Given the description of an element on the screen output the (x, y) to click on. 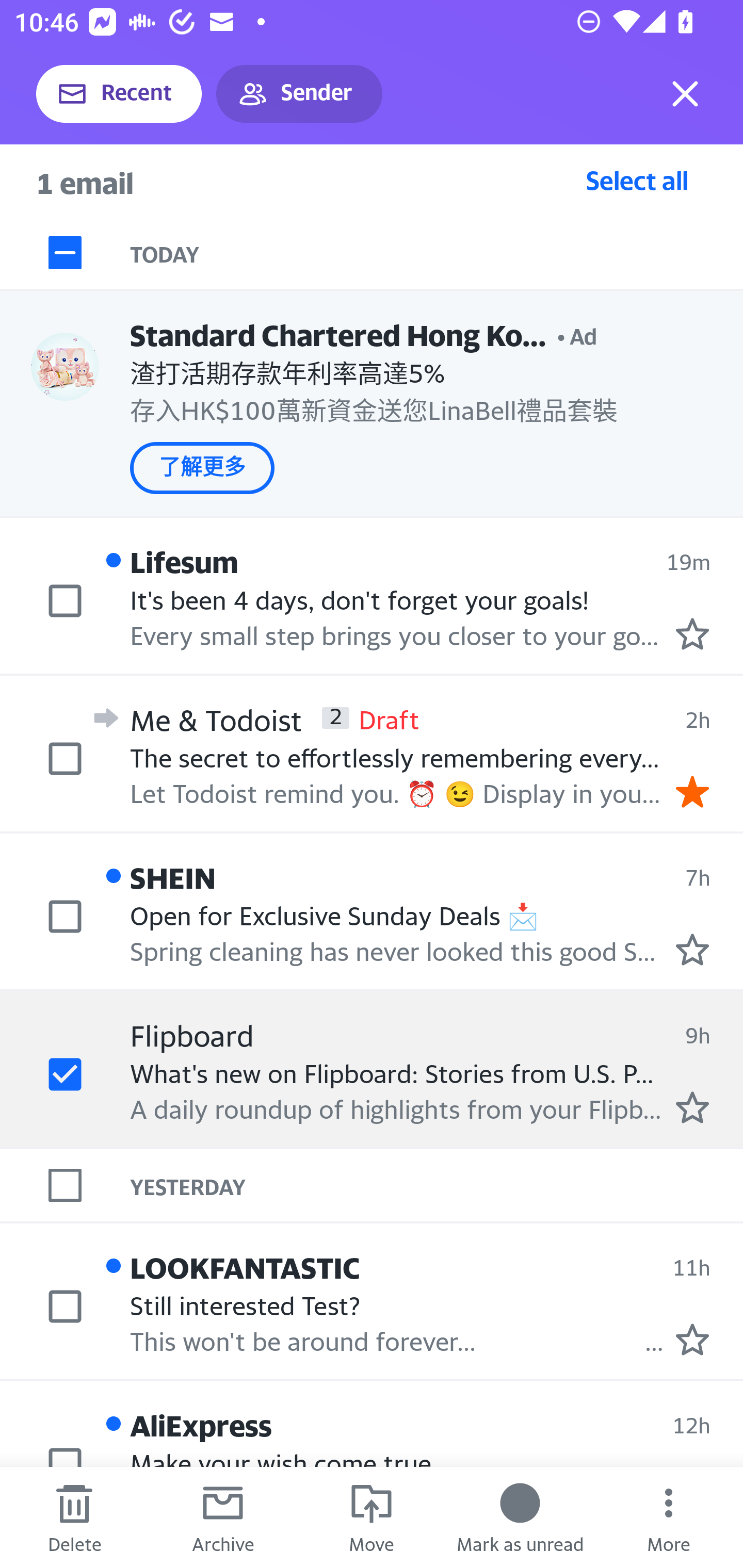
Sender (299, 93)
Exit selection mode (684, 93)
Select all (637, 180)
TODAY (436, 252)
Mark as starred. (692, 634)
Remove star. (692, 791)
Mark as starred. (692, 949)
Mark as starred. (692, 1107)
YESTERDAY (436, 1184)
Mark as starred. (692, 1339)
Delete (74, 1517)
Archive (222, 1517)
Move (371, 1517)
Mark as unread (519, 1517)
More (668, 1517)
